Given the description of an element on the screen output the (x, y) to click on. 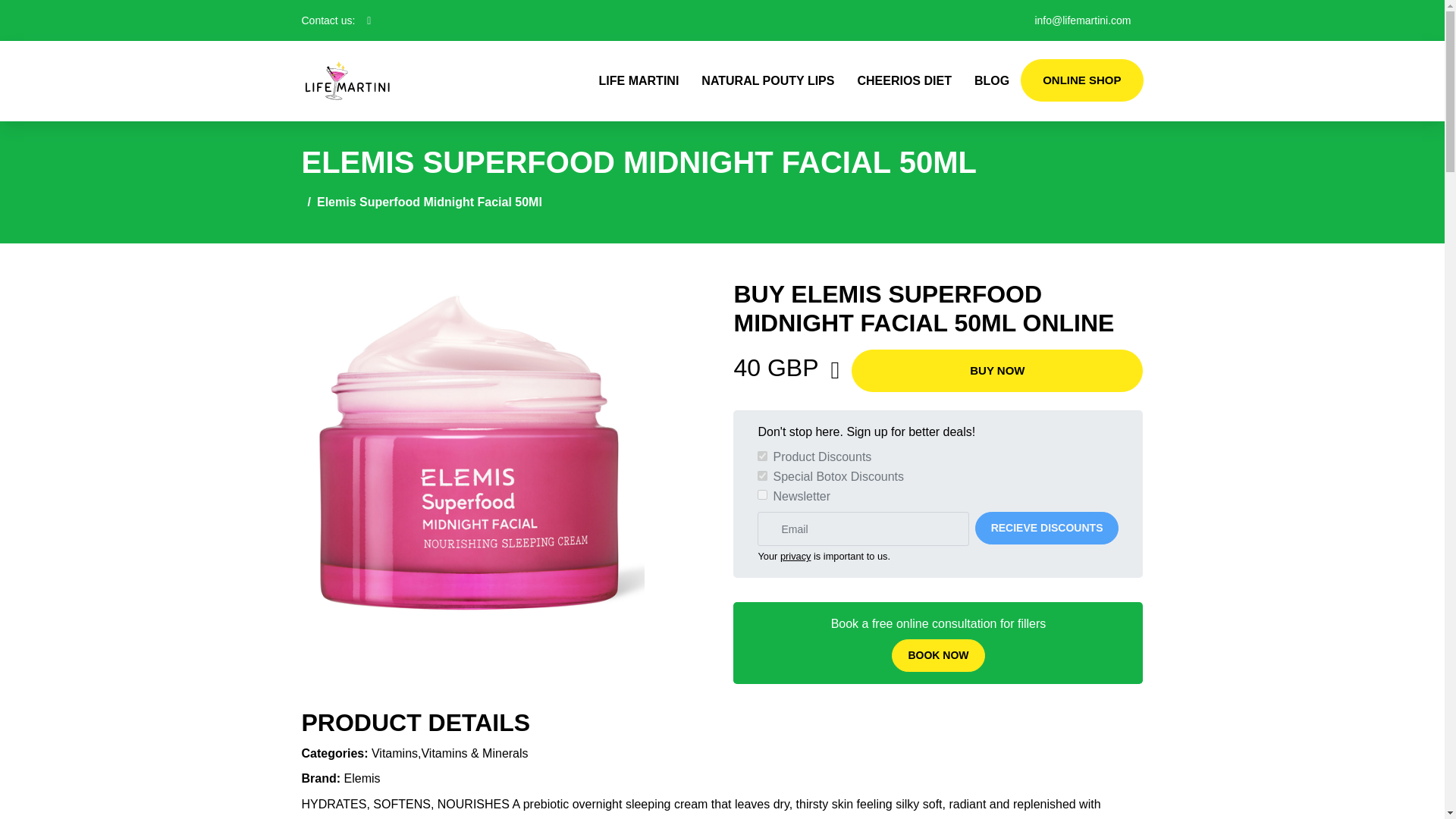
CHEERIOS DIET (903, 80)
LIFE MARTINI (639, 80)
1 (762, 475)
privacy (795, 555)
NATURAL POUTY LIPS (767, 80)
1 (762, 456)
BUY NOW (996, 370)
BOOK NOW (937, 655)
1 (762, 494)
Vitamins (394, 753)
